Given the description of an element on the screen output the (x, y) to click on. 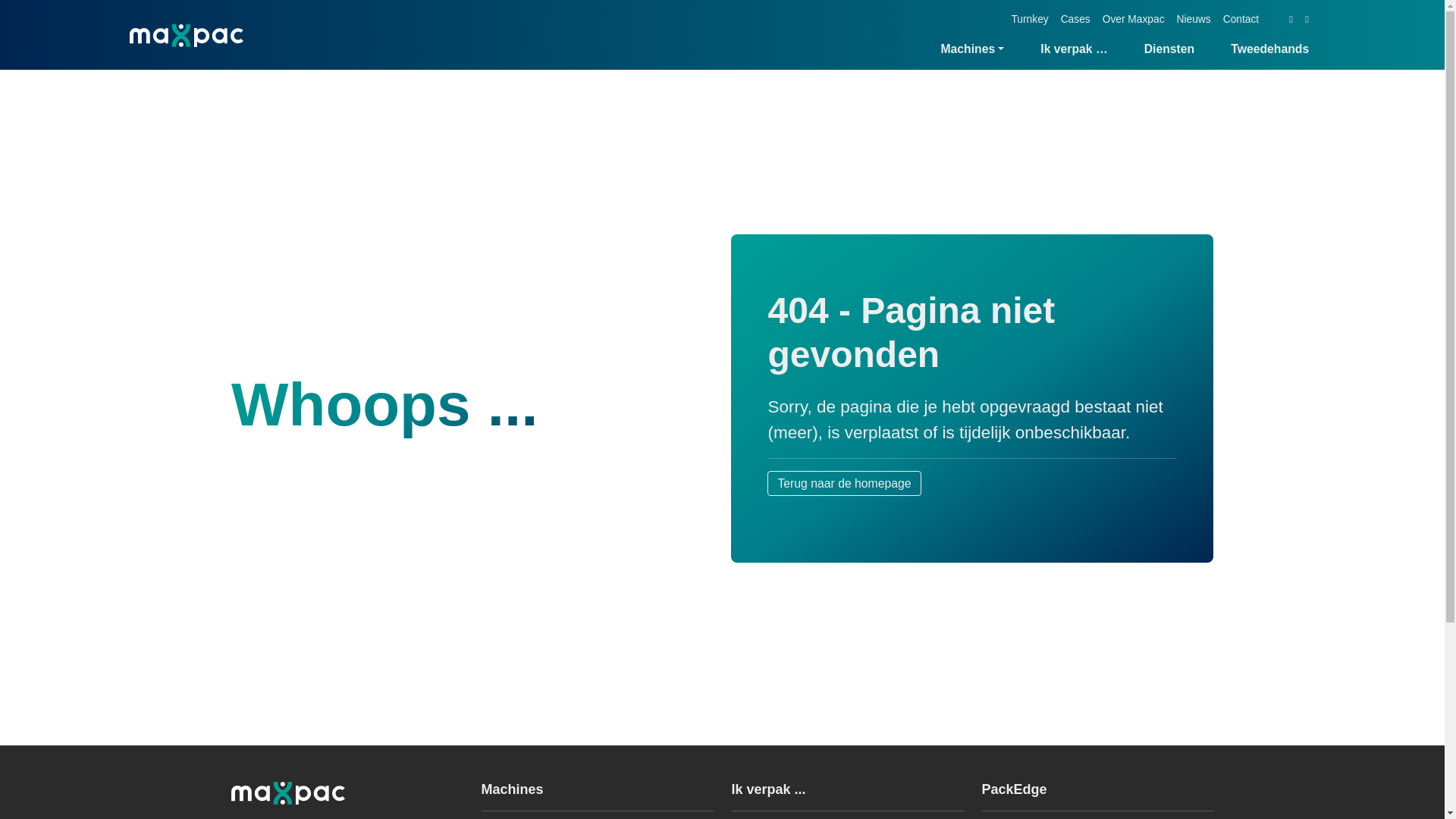
Over Maxpac (1133, 19)
Machines (971, 49)
Tweedehands (1263, 49)
Terug naar de homepage (843, 500)
Turnkey (1029, 19)
Cases (1075, 19)
Maxpac (186, 34)
Contact (1241, 19)
Nieuws (1193, 19)
Diensten (1168, 49)
